Given the description of an element on the screen output the (x, y) to click on. 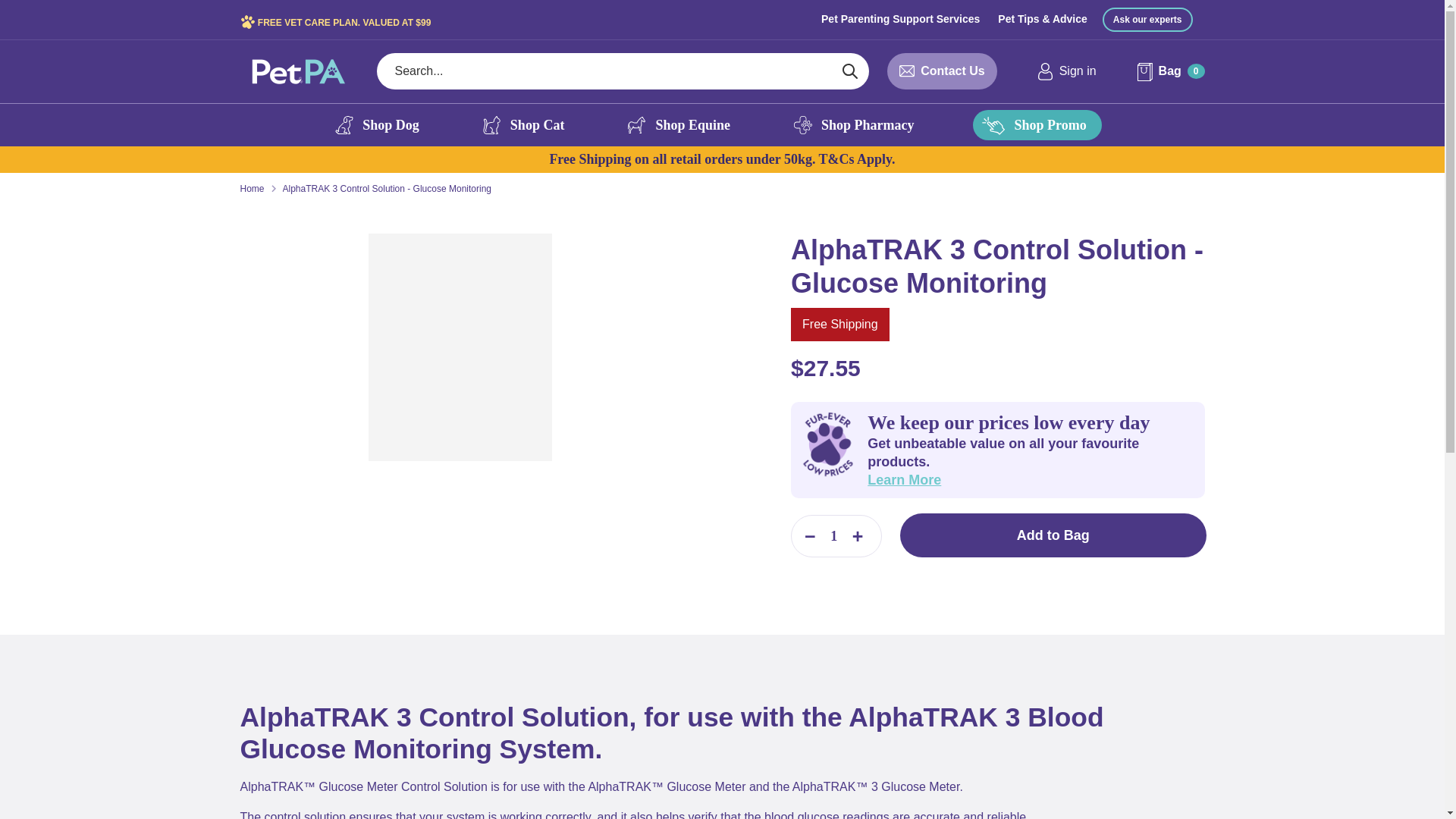
Contact Us (952, 71)
Pet Parenting Support Services (900, 18)
Ask our experts (1147, 19)
Sign in (1067, 71)
